Given the description of an element on the screen output the (x, y) to click on. 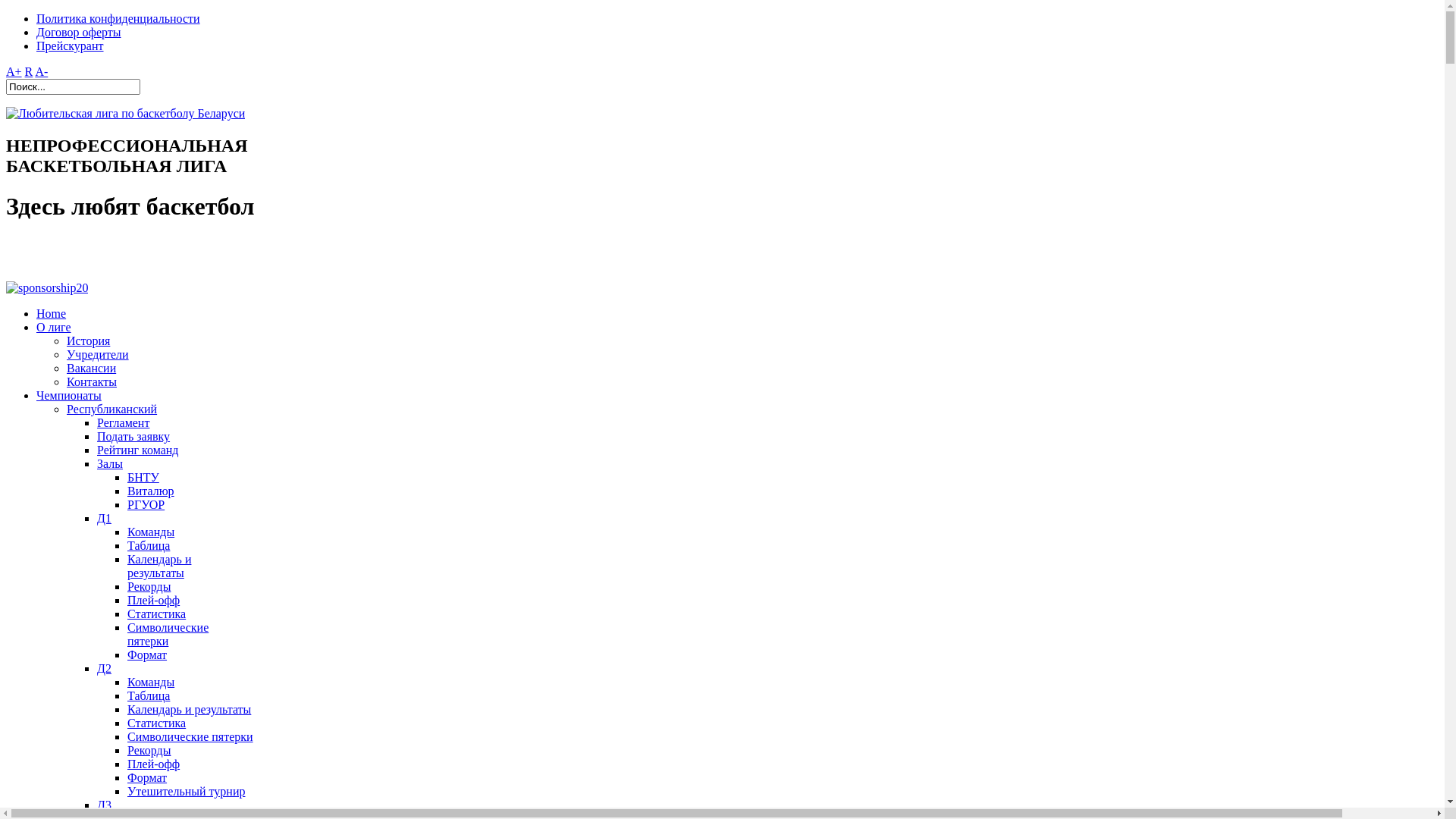
R Element type: text (29, 71)
A+ Element type: text (13, 71)
A- Element type: text (40, 71)
Home Element type: text (50, 313)
